Given the description of an element on the screen output the (x, y) to click on. 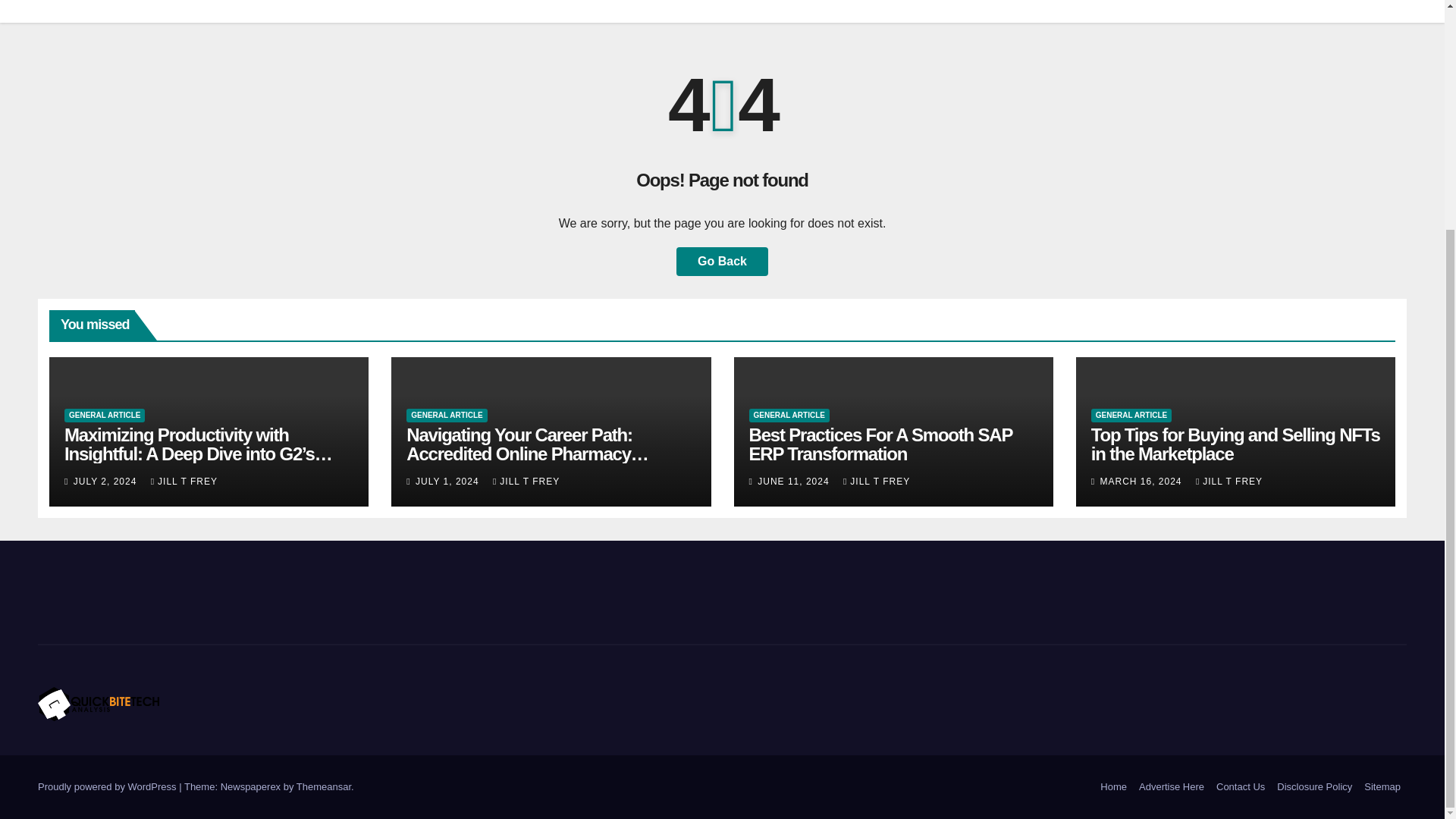
GENERAL ARTICLE (446, 415)
JULY 2, 2024 (106, 480)
JILL T FREY (183, 480)
GENERAL ARTICLE (104, 415)
Go Back (722, 261)
